Given the description of an element on the screen output the (x, y) to click on. 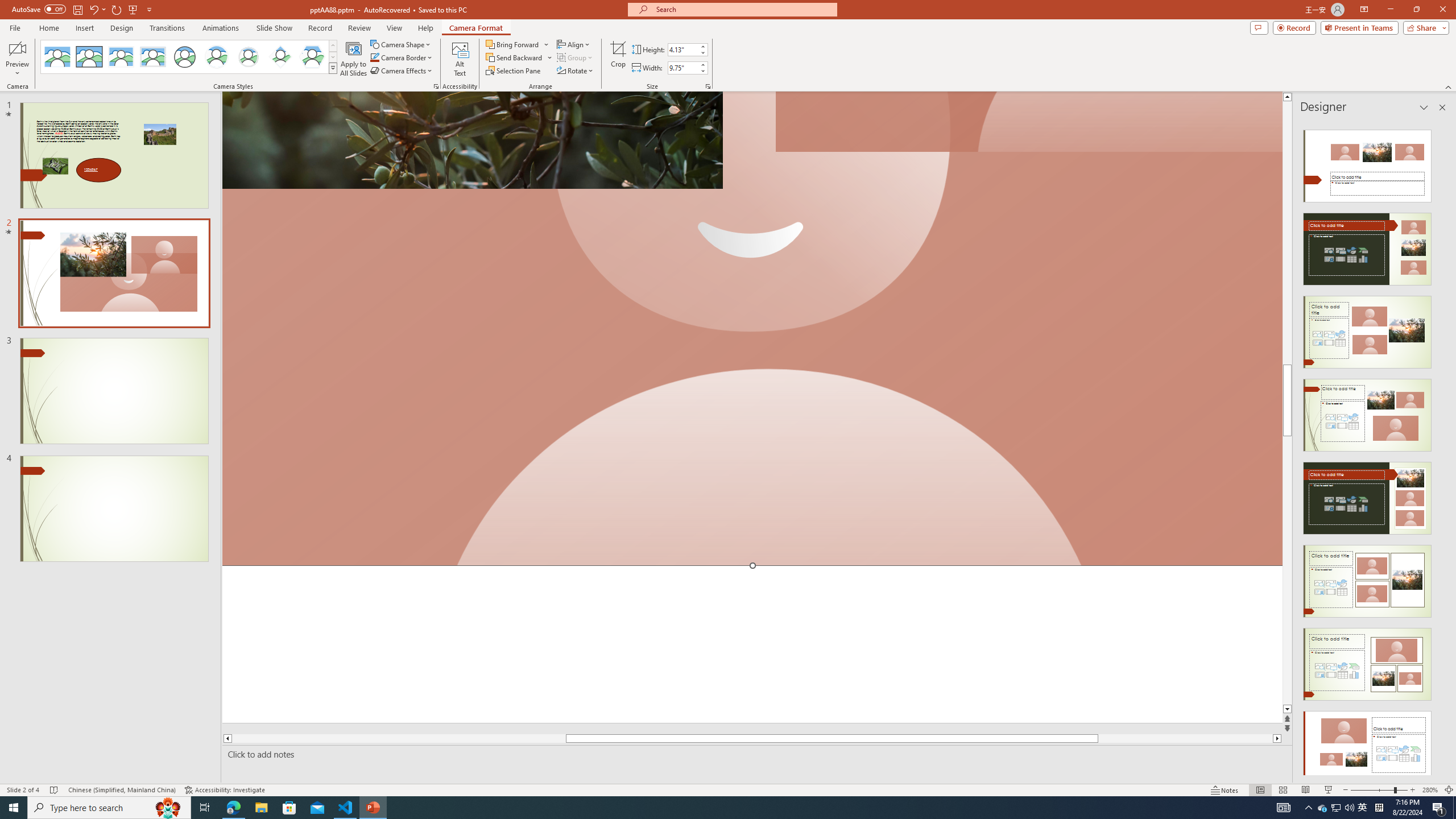
Simple Frame Rectangle (88, 56)
Simple Frame Circle (184, 56)
Soft Edge Circle (248, 56)
Center Shadow Diamond (280, 56)
Crop (617, 58)
Center Shadow Hexagon (312, 56)
Align (574, 44)
Soft Edge Rectangle (152, 56)
Selection Pane... (513, 69)
